Given the description of an element on the screen output the (x, y) to click on. 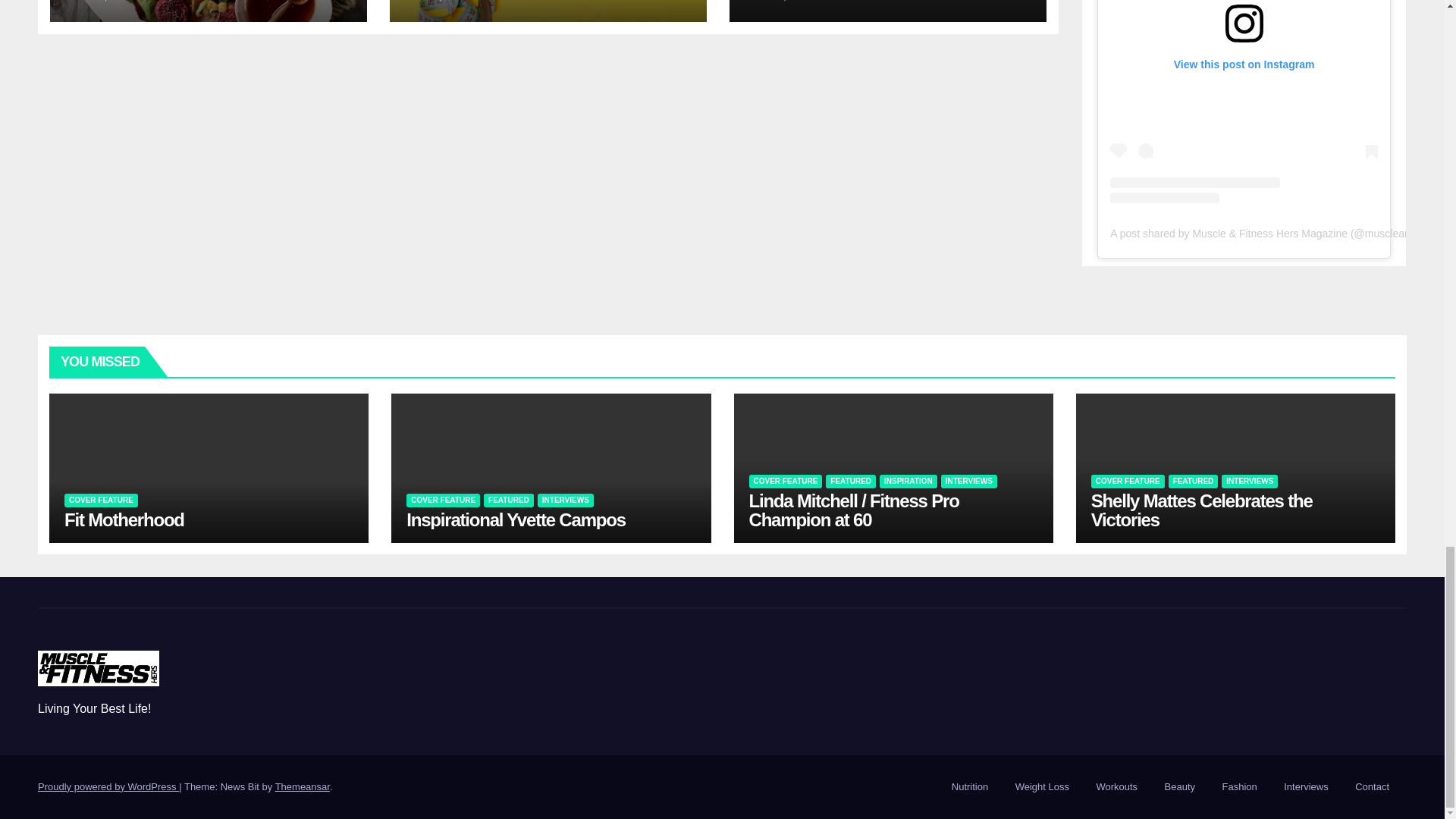
Nutrition (969, 786)
Permalink to: Shelly Mattes Celebrates the Victories (1201, 509)
Permalink to: Inspirational Yvette Campos (516, 519)
Weight Loss (1042, 786)
Permalink to: Fit Motherhood (124, 519)
